Given the description of an element on the screen output the (x, y) to click on. 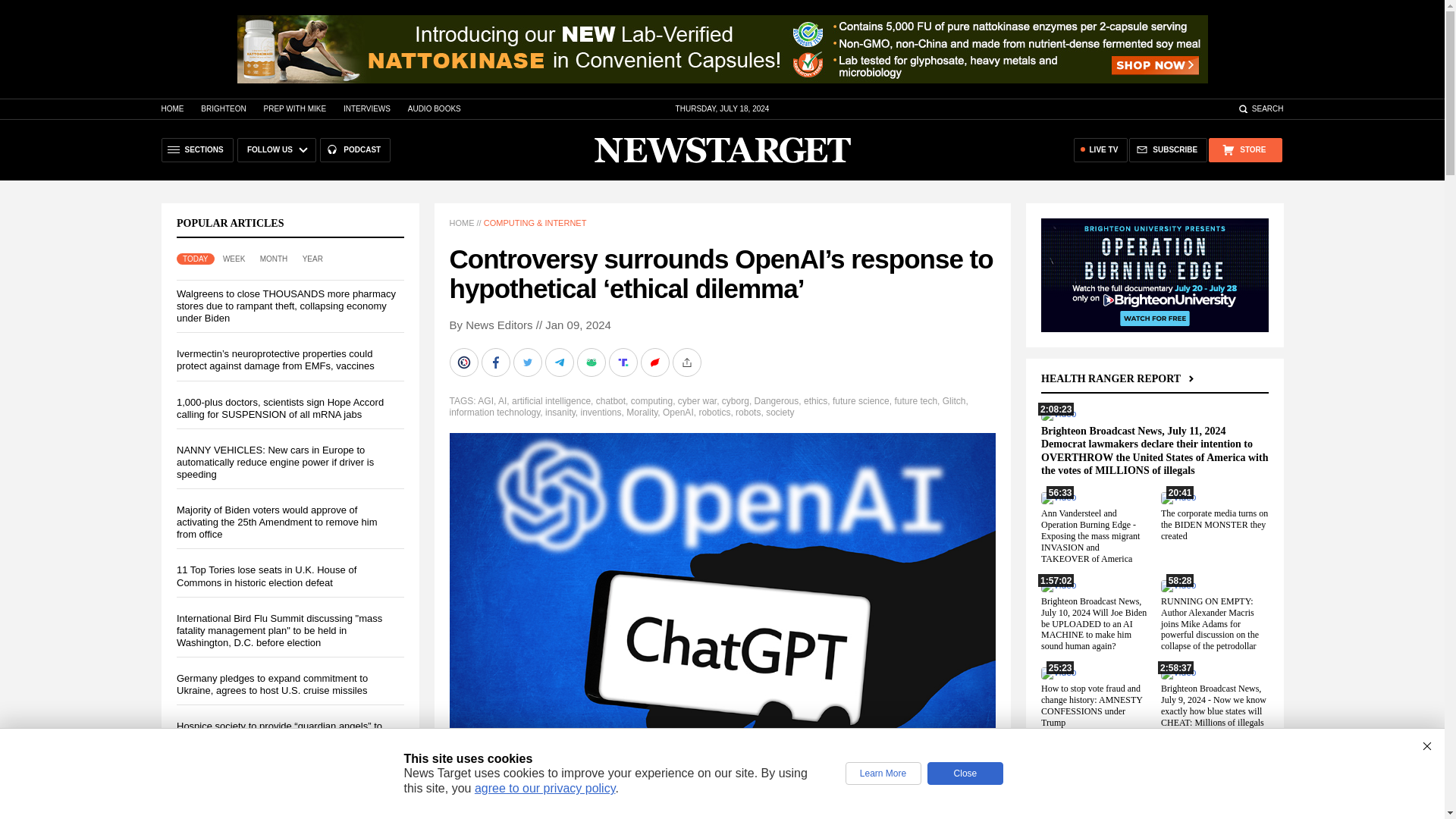
PREP WITH MIKE (294, 108)
BRIGHTEON (223, 108)
HOME (171, 108)
SUBSCRIBE (1168, 150)
STORE (1244, 150)
Share on Gettr (655, 362)
INTERVIEWS (366, 108)
Share on Truth.Social (624, 362)
Search (1260, 108)
Share on GAB (592, 362)
